Given the description of an element on the screen output the (x, y) to click on. 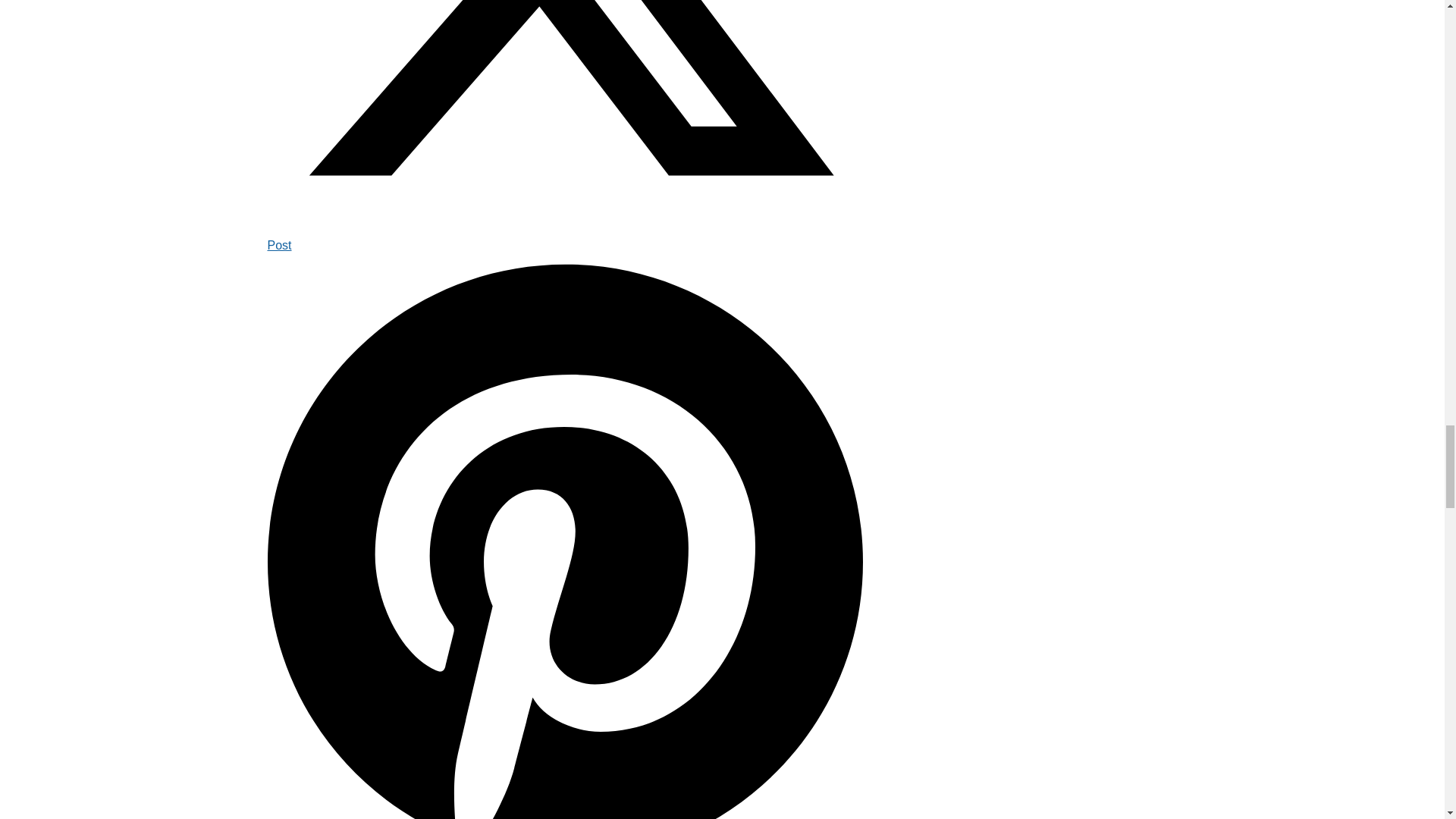
Post (563, 235)
